Given the description of an element on the screen output the (x, y) to click on. 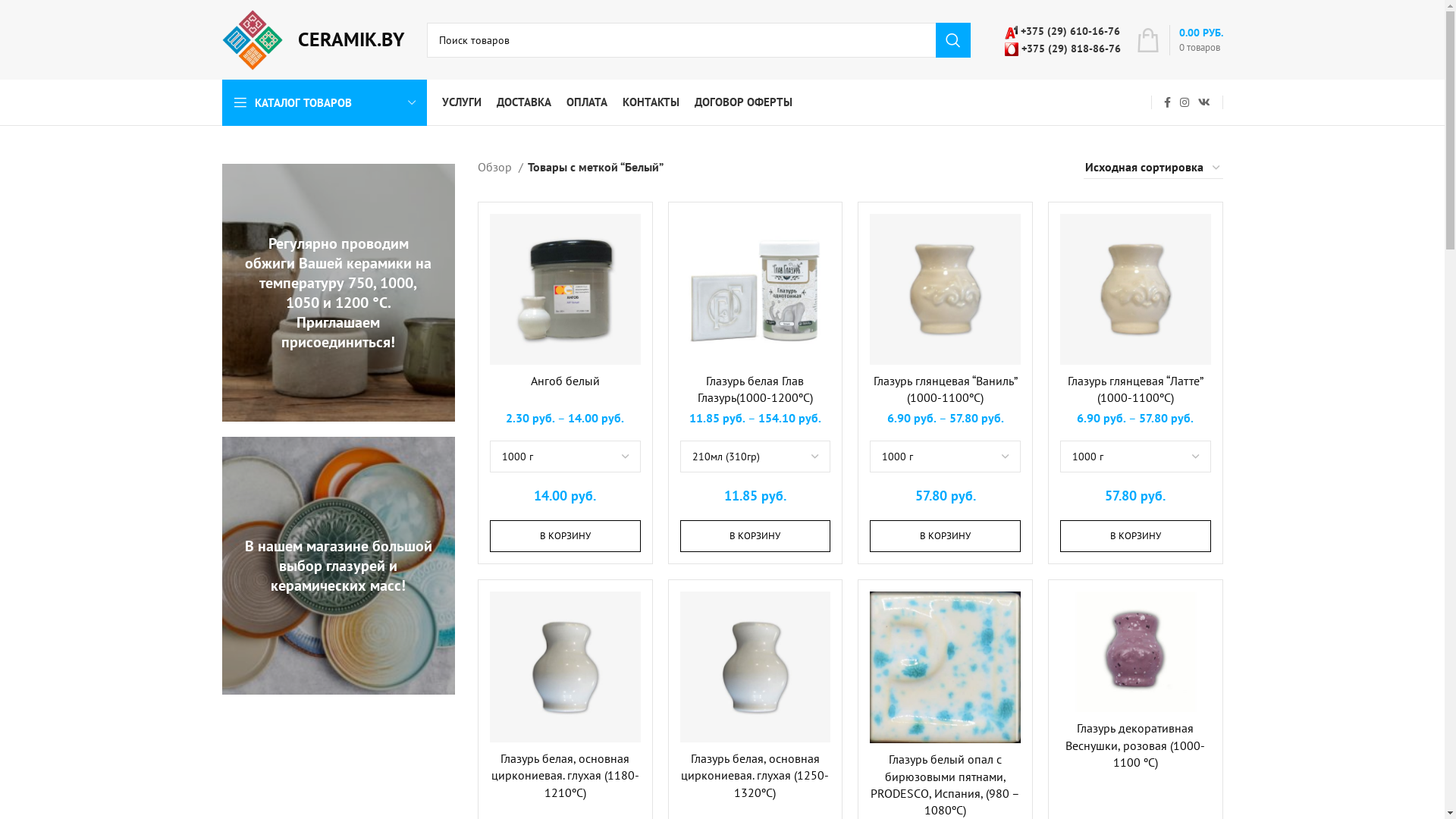
+375 (29) 818-86-76 Element type: text (1062, 47)
+375 (29) 610-16-76 Element type: text (1061, 30)
SEARCH Element type: text (952, 39)
+375 (29) 610-16-76
+375 (29) 818-86-76 Element type: text (1062, 39)
